Given the description of an element on the screen output the (x, y) to click on. 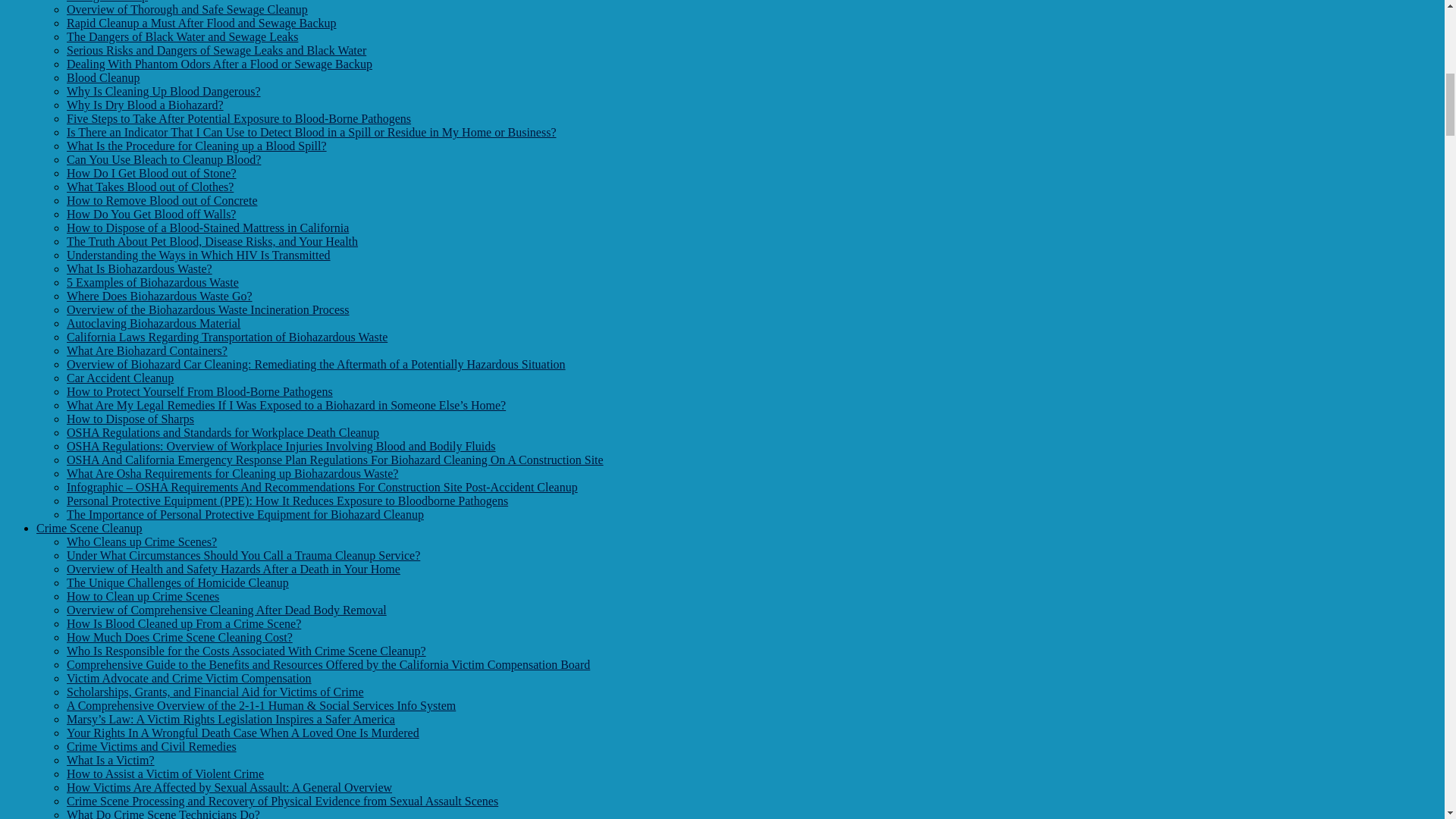
Why Is Dry Blood a Biohazard? (145, 104)
The Dangers of Black Water and Sewage Leaks (182, 36)
Blood Cleanup (102, 77)
Serious Risks and Dangers of Sewage Leaks and Black Water (216, 50)
Sewage Cleanup (107, 1)
Rapid Cleanup a Must After Flood and Sewage Backup (201, 22)
Why Is Cleaning Up Blood Dangerous? (163, 91)
Dealing With Phantom Odors After a Flood or Sewage Backup (219, 63)
Overview of Thorough and Safe Sewage Cleanup (186, 9)
